Given the description of an element on the screen output the (x, y) to click on. 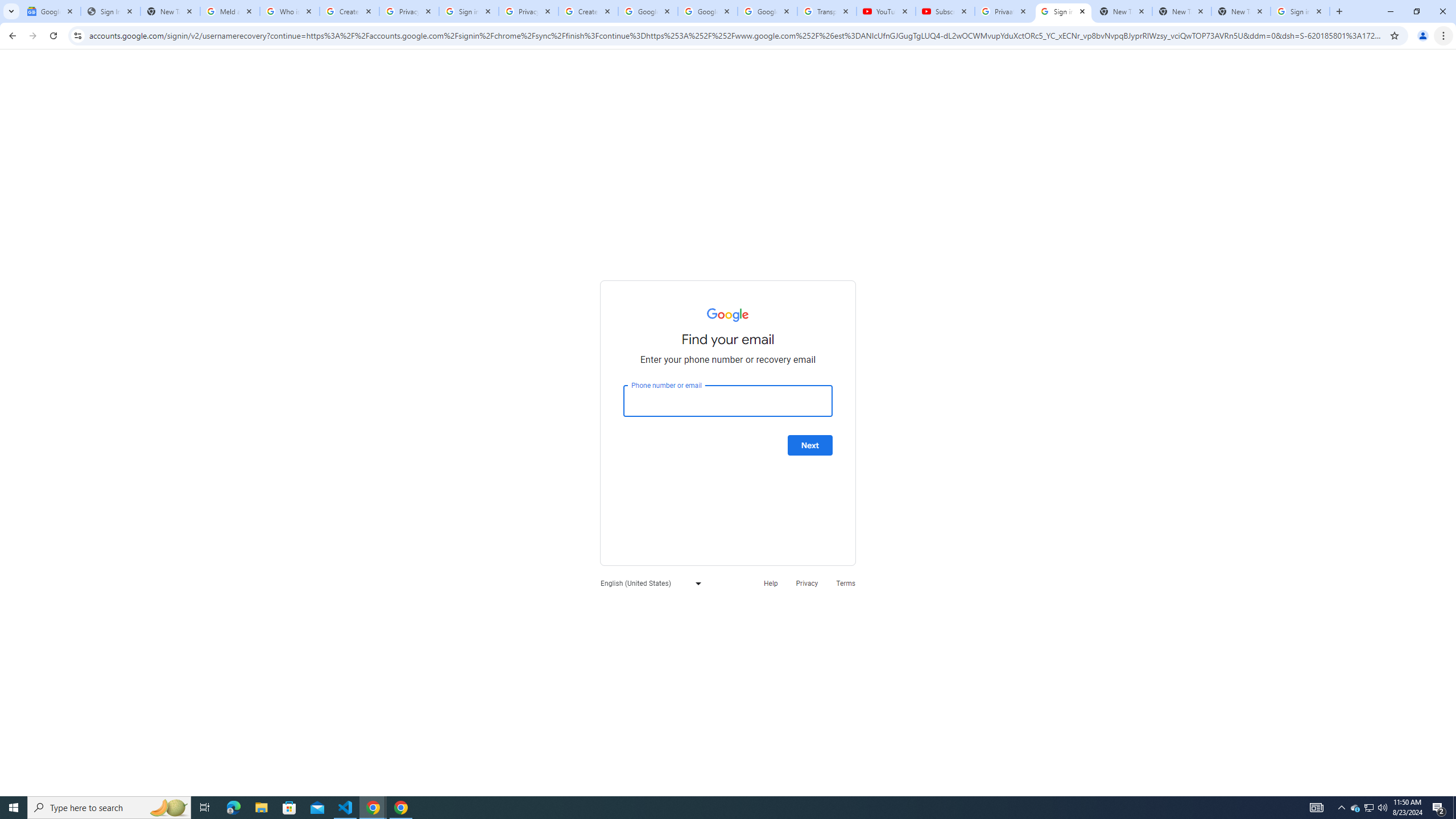
Google Account (767, 11)
You (1422, 35)
Create your Google Account (588, 11)
Address and search bar (735, 35)
YouTube (885, 11)
Minimize (1390, 11)
Sign in - Google Accounts (1063, 11)
Reload (52, 35)
